Given the description of an element on the screen output the (x, y) to click on. 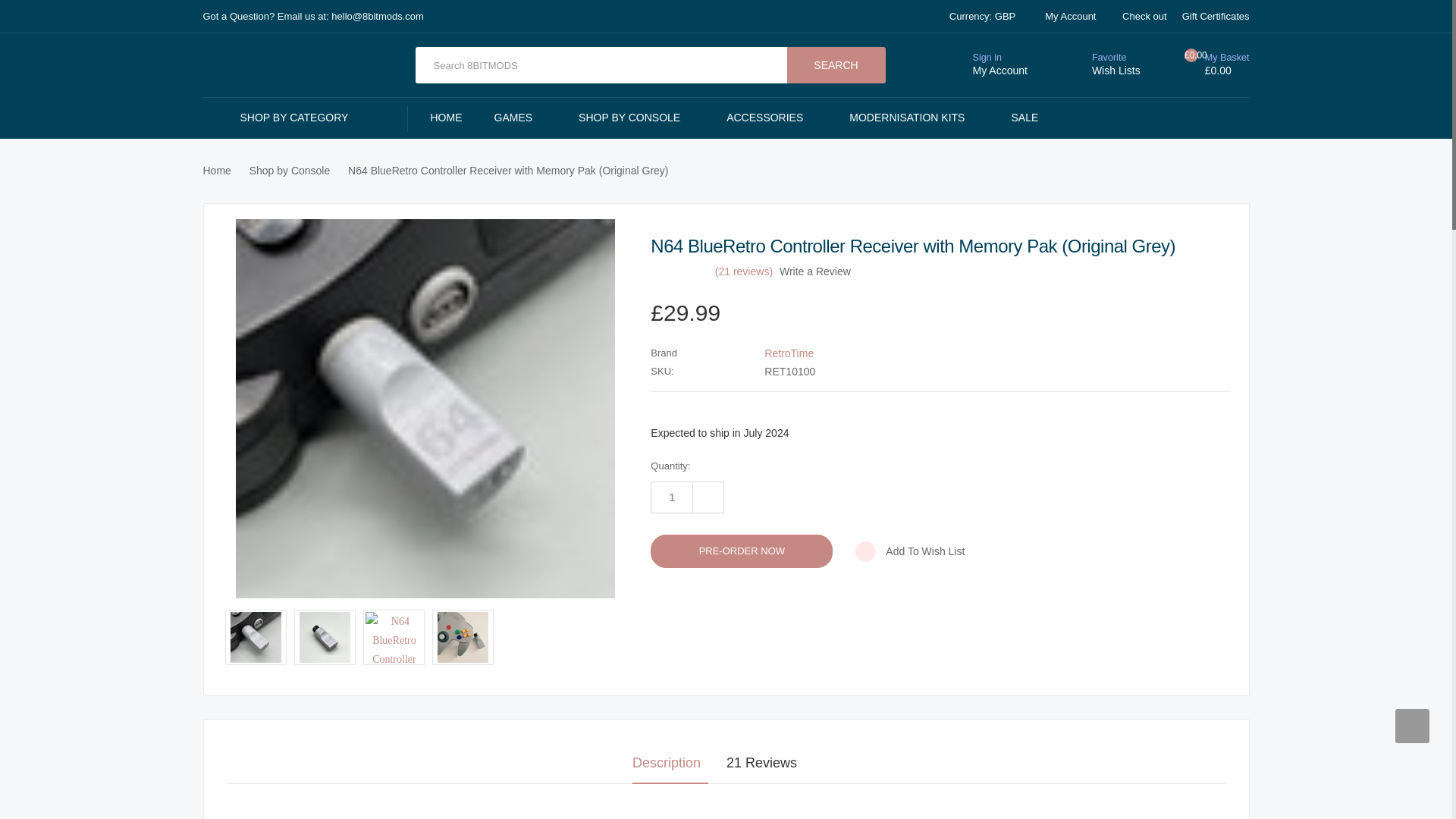
Pre-Order Now (741, 551)
1 (671, 497)
Click here to proceed to checkout (1144, 16)
